Given the description of an element on the screen output the (x, y) to click on. 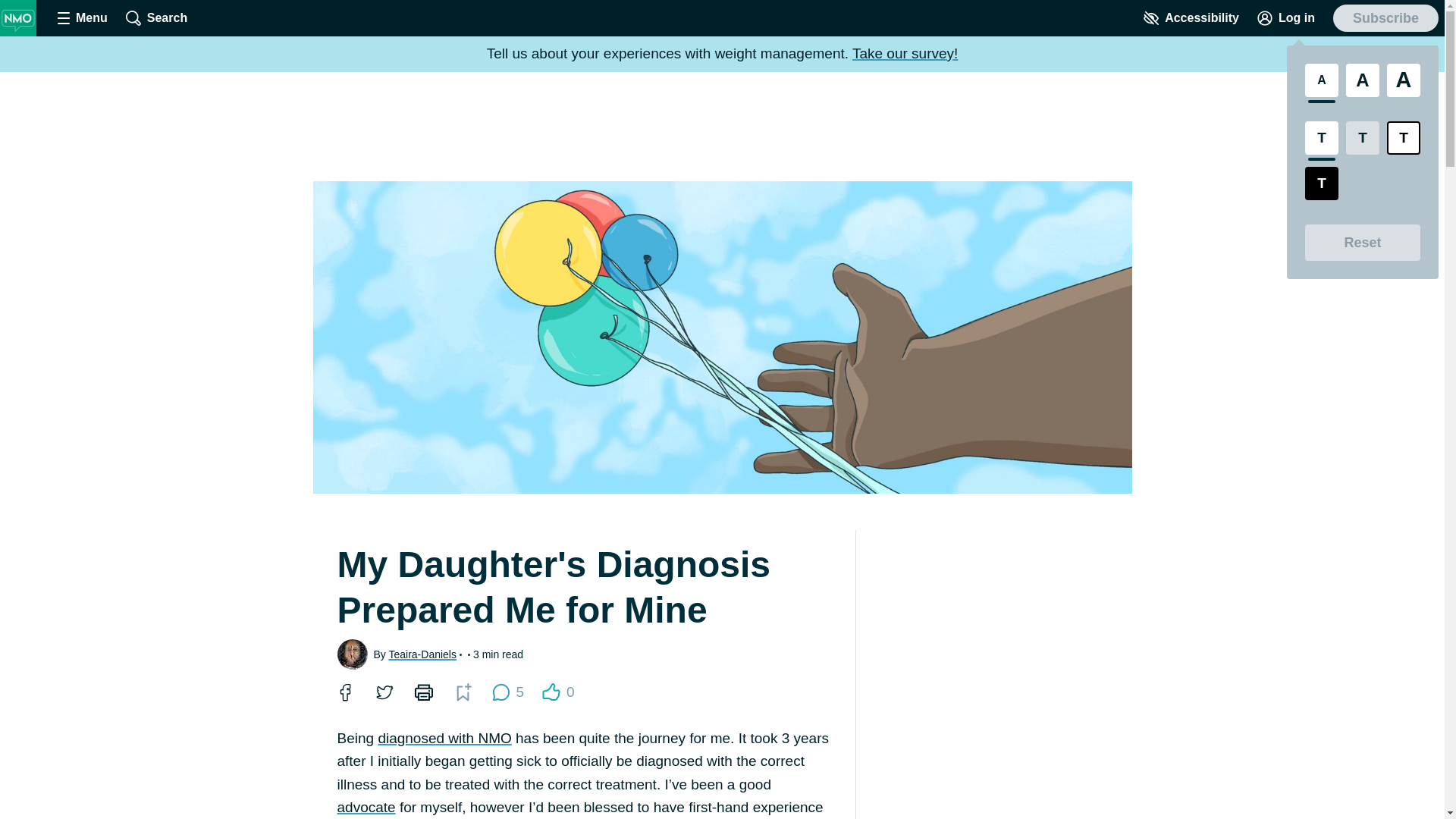
Take our survey! (904, 53)
T (1321, 137)
Share to Twitter (383, 692)
Share to Facebook (344, 692)
Menu (82, 18)
A (1404, 80)
Reactions (550, 692)
T (1404, 137)
Share to Twitter (383, 692)
Search (156, 18)
Bookmark for later (461, 692)
Subscribe (1385, 17)
print page (422, 692)
T (1321, 183)
Reset (1362, 242)
